Given the description of an element on the screen output the (x, y) to click on. 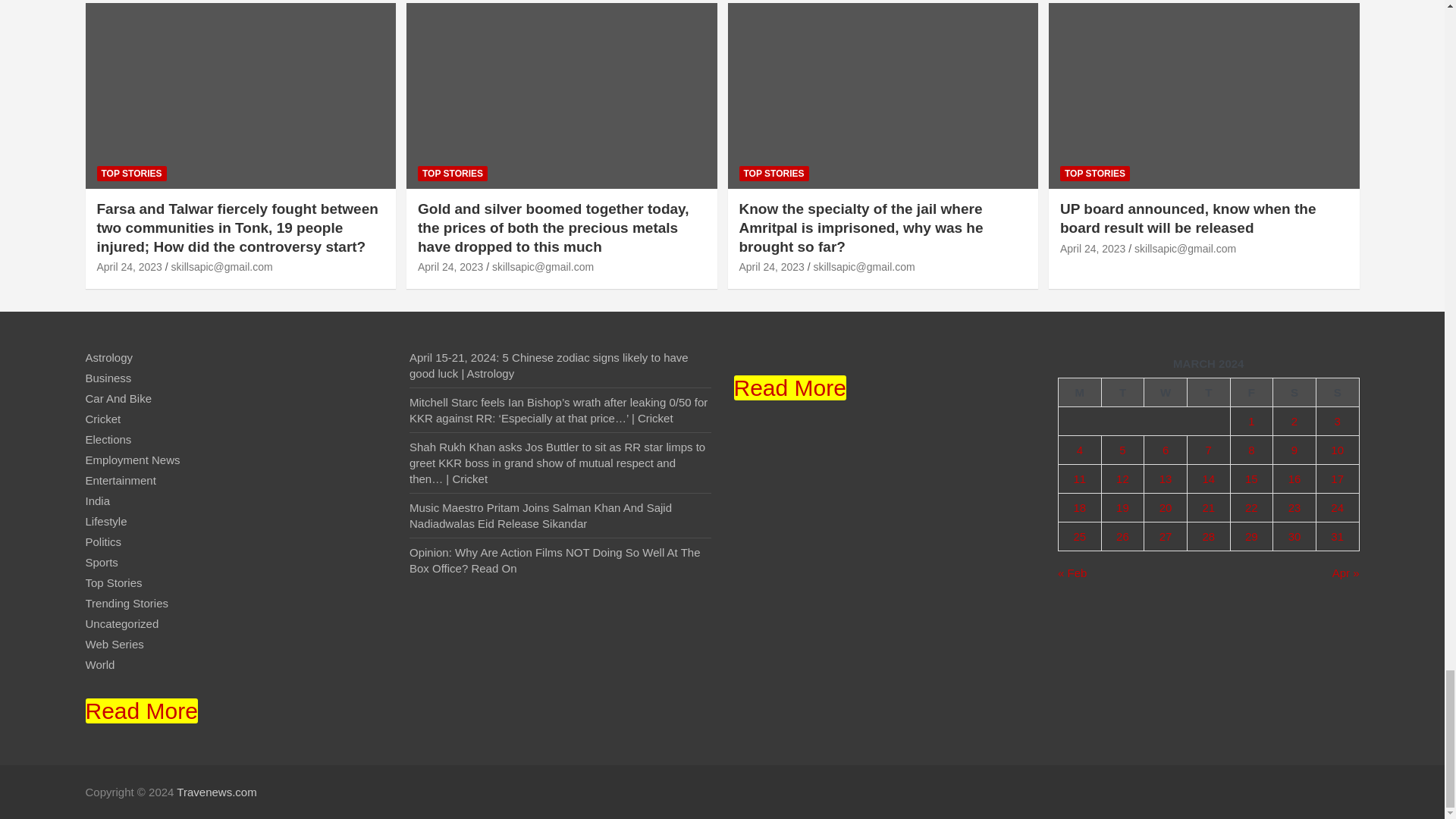
Travenews.com (216, 791)
Sunday (1337, 392)
Friday (1251, 392)
Monday (1080, 392)
Tuesday (1122, 392)
Wednesday (1166, 392)
Saturday (1294, 392)
Thursday (1208, 392)
